Given the description of an element on the screen output the (x, y) to click on. 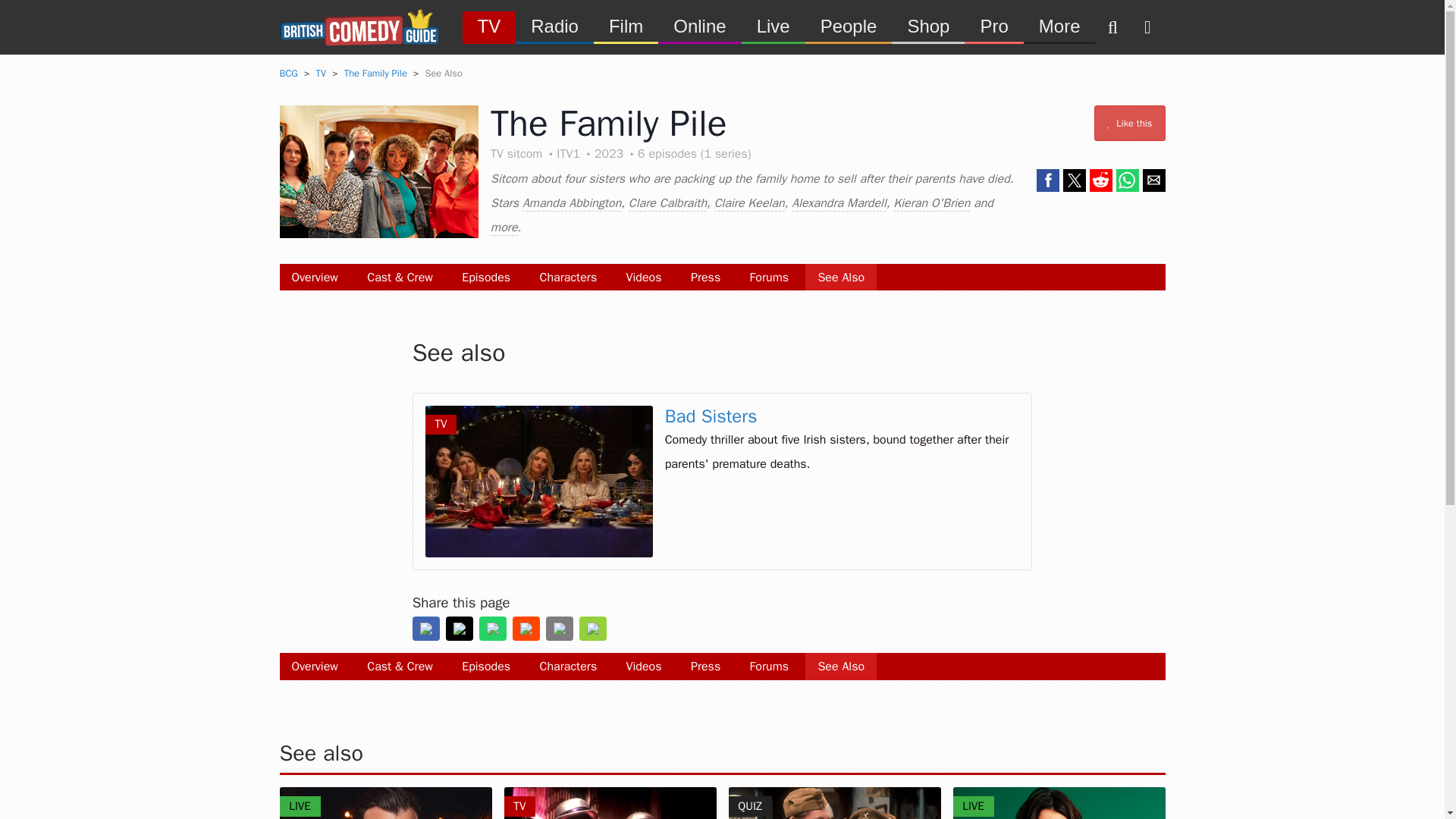
Overview (314, 276)
More (1059, 25)
Graham Kay (385, 803)
Videos (644, 276)
Episodes (485, 276)
Online (699, 25)
Like this (1130, 122)
Claire Keelan (749, 203)
See Also (840, 276)
more (503, 227)
Press (705, 276)
Radio (554, 25)
Amanda Abbington (571, 203)
The Family Pile (375, 73)
Alexandra Mardell (839, 203)
